Given the description of an element on the screen output the (x, y) to click on. 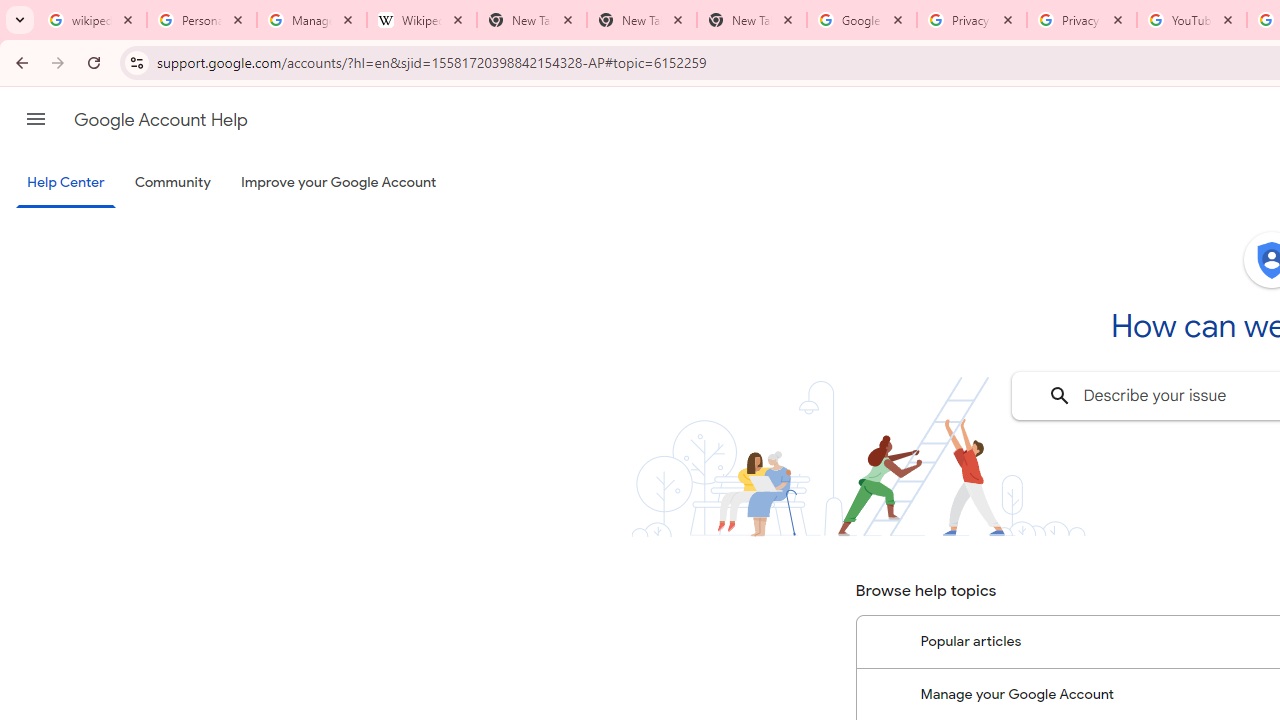
Manage your Location History - Google Search Help (312, 20)
Google Account Help (160, 119)
Personalization & Google Search results - Google Search Help (202, 20)
Improve your Google Account (339, 183)
Help Center (65, 183)
